Given the description of an element on the screen output the (x, y) to click on. 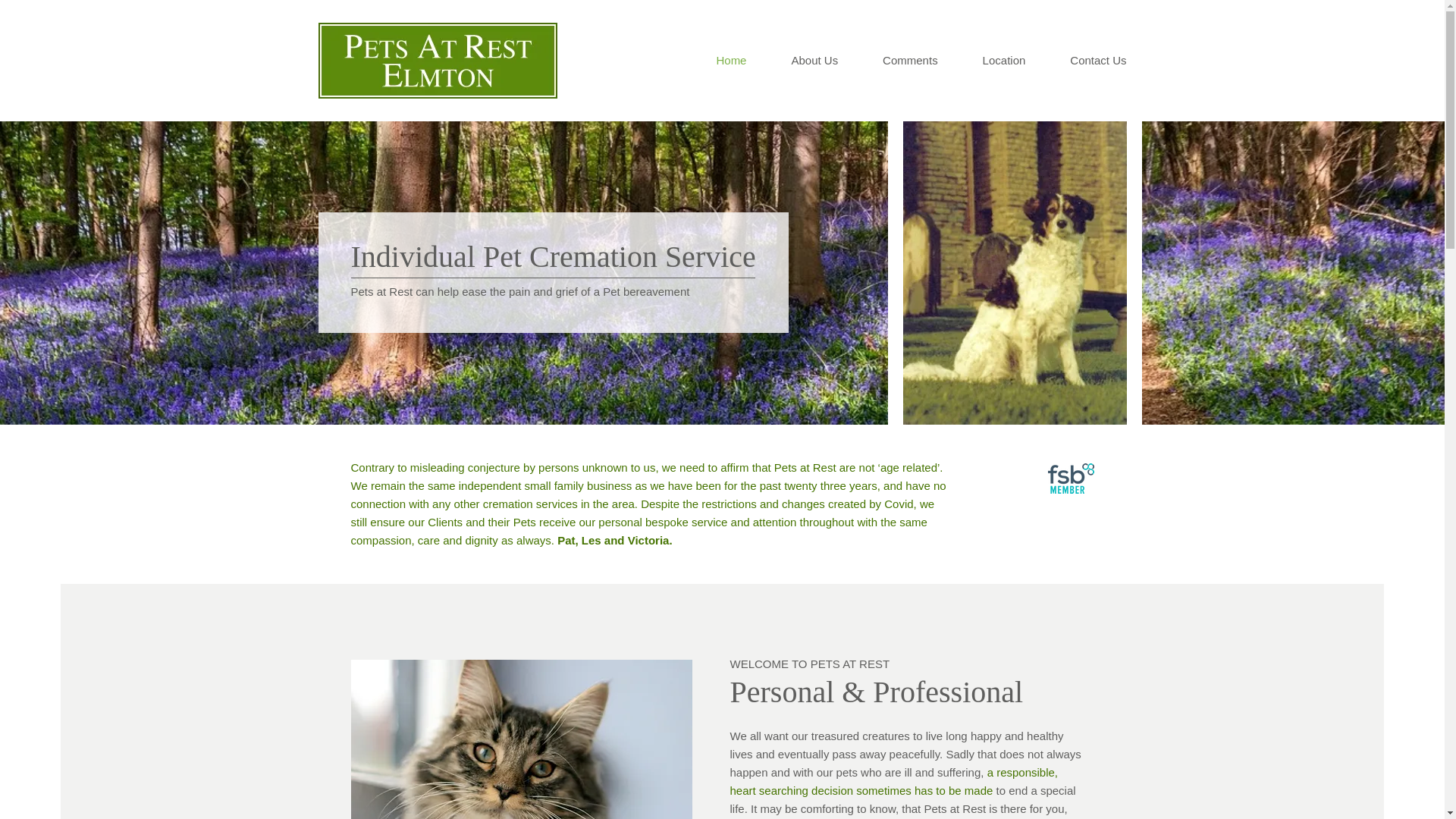
About Us (791, 60)
Comments (887, 60)
Home (708, 60)
pets at rest elmton (437, 60)
Contact Us (1075, 60)
Location (981, 60)
